Given the description of an element on the screen output the (x, y) to click on. 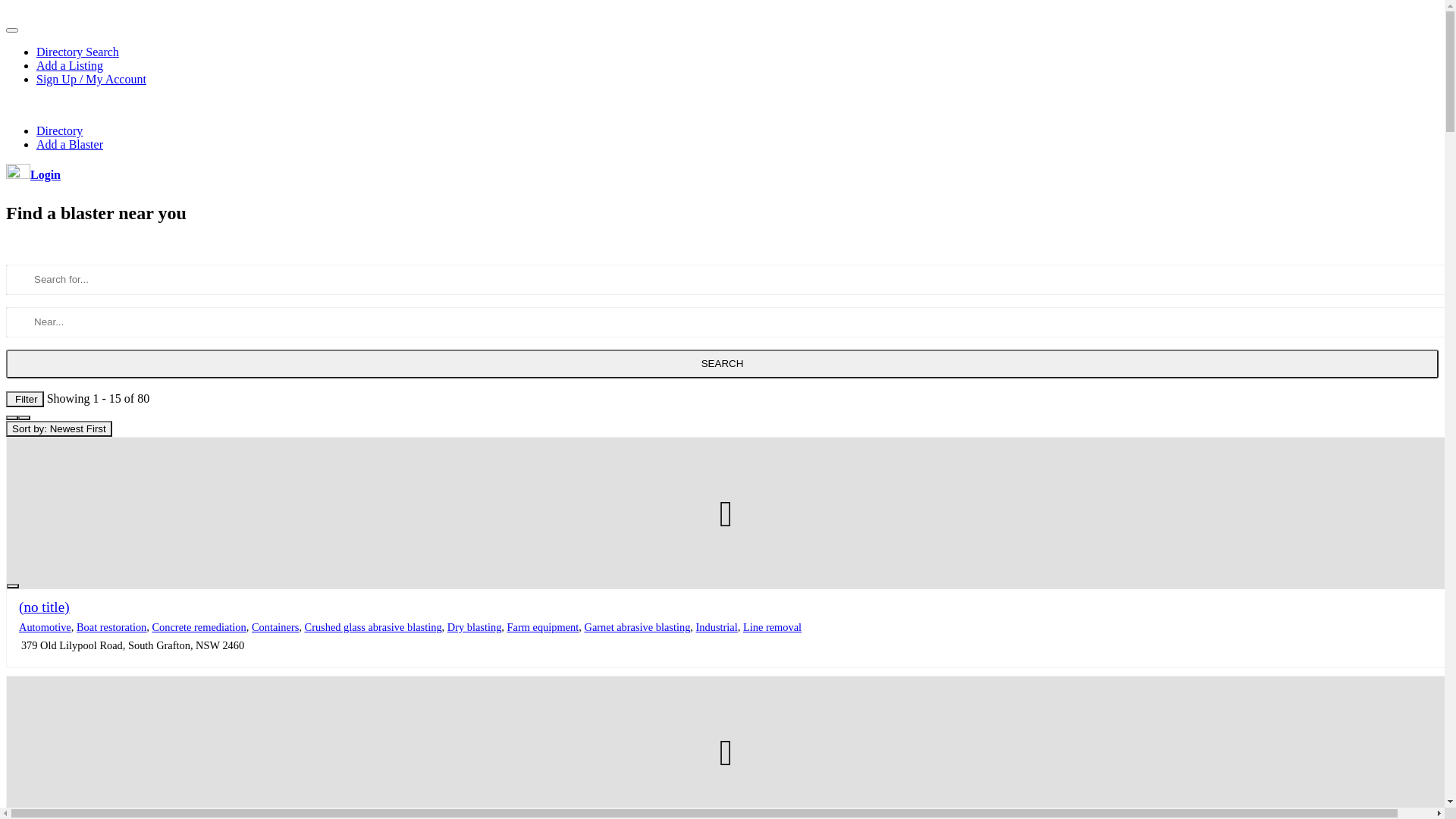
Industrial Element type: text (716, 627)
Random Element type: text (367, 444)
Add a Listing Element type: text (69, 65)
Login Element type: text (33, 174)
Automotive Element type: text (44, 627)
Containers Element type: text (274, 627)
Directory Element type: text (59, 130)
Oldest First Element type: text (109, 444)
Crushed glass abrasive blasting Element type: text (373, 627)
Newest First Element type: text (40, 444)
(no title) Element type: text (43, 607)
SEARCH Element type: text (722, 363)
Add a Blaster Element type: text (69, 144)
Bookmark Element type: hover (12, 585)
Concrete remediation Element type: text (198, 627)
Title Element type: text (159, 444)
Directory Search Element type: text (77, 51)
Rating Element type: text (317, 444)
Dry blasting Element type: text (474, 627)
Sign Up / My Account Element type: text (91, 78)
Title (desc) Element type: text (208, 444)
Garnet abrasive blasting Element type: text (636, 627)
Sort by: Newest First Element type: text (59, 428)
Line removal Element type: text (772, 627)
Distance Element type: text (268, 444)
Boat restoration Element type: text (111, 627)
Filter Element type: text (24, 399)
Farm equipment Element type: text (543, 627)
Bookmarks Element type: text (426, 444)
